Given the description of an element on the screen output the (x, y) to click on. 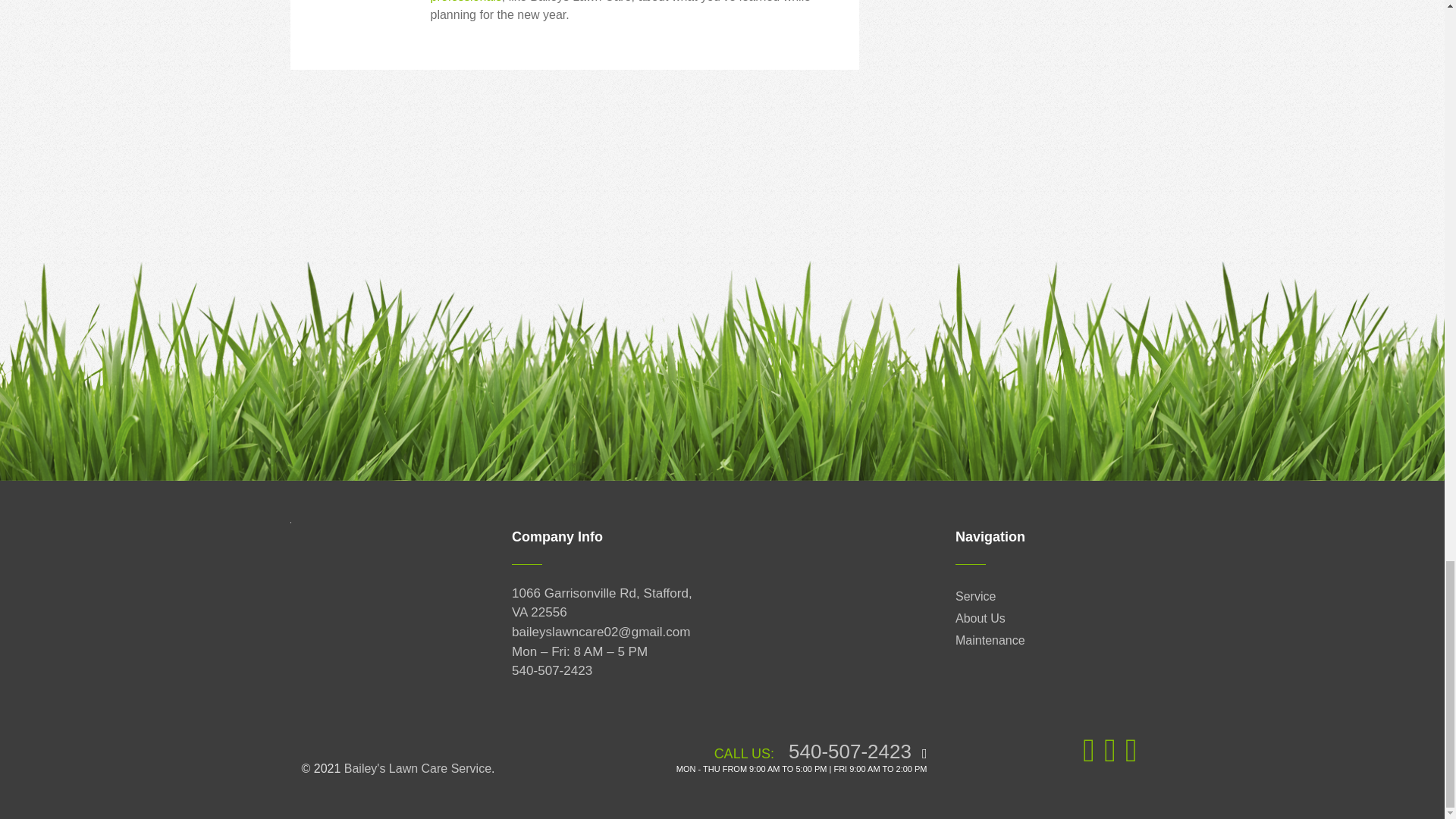
professionals (466, 1)
